Given the description of an element on the screen output the (x, y) to click on. 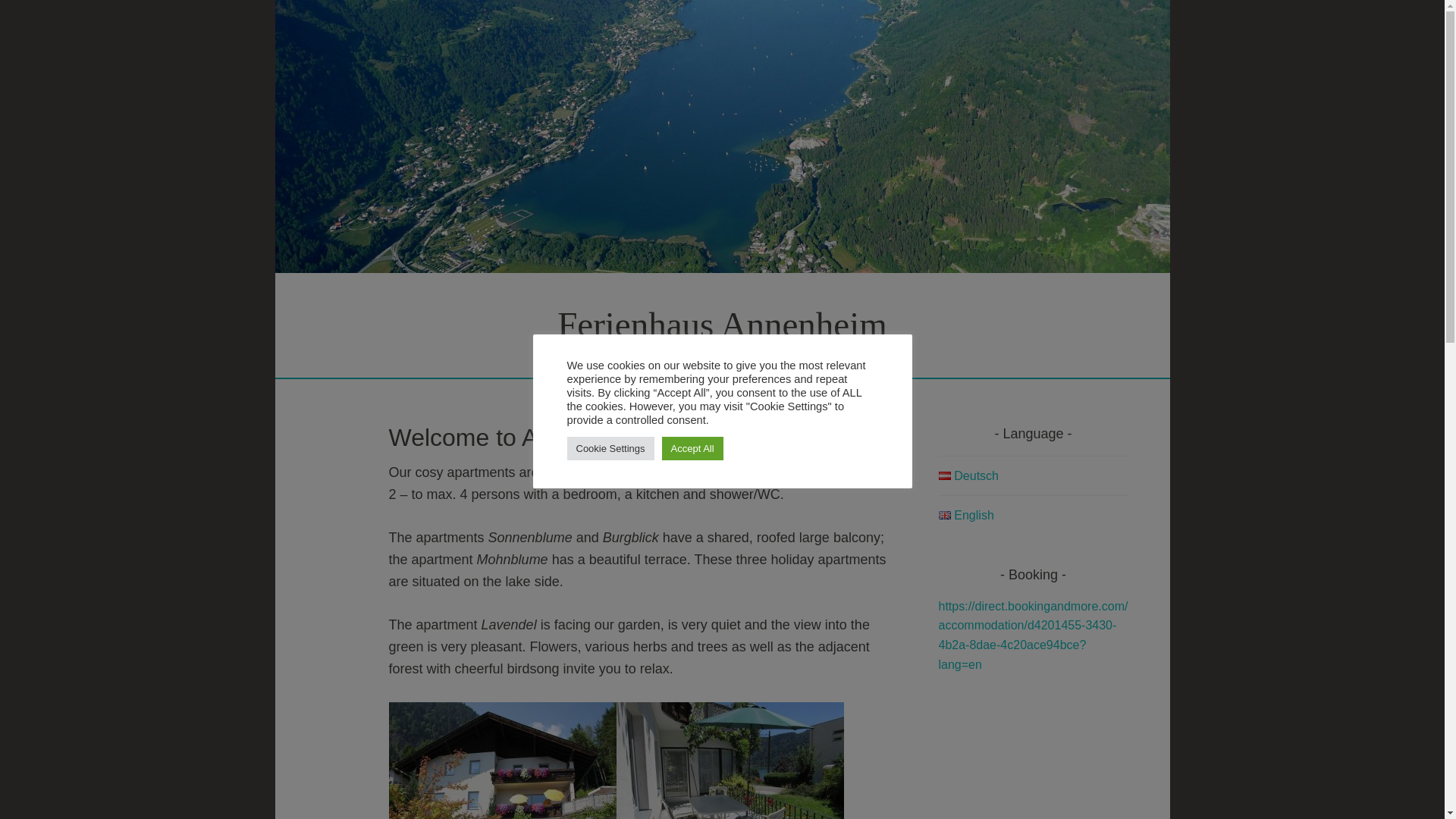
Deutsch (968, 475)
English (966, 514)
Accept All (692, 448)
Cookie Settings (610, 448)
Ferienhaus Annenheim (721, 323)
